Given the description of an element on the screen output the (x, y) to click on. 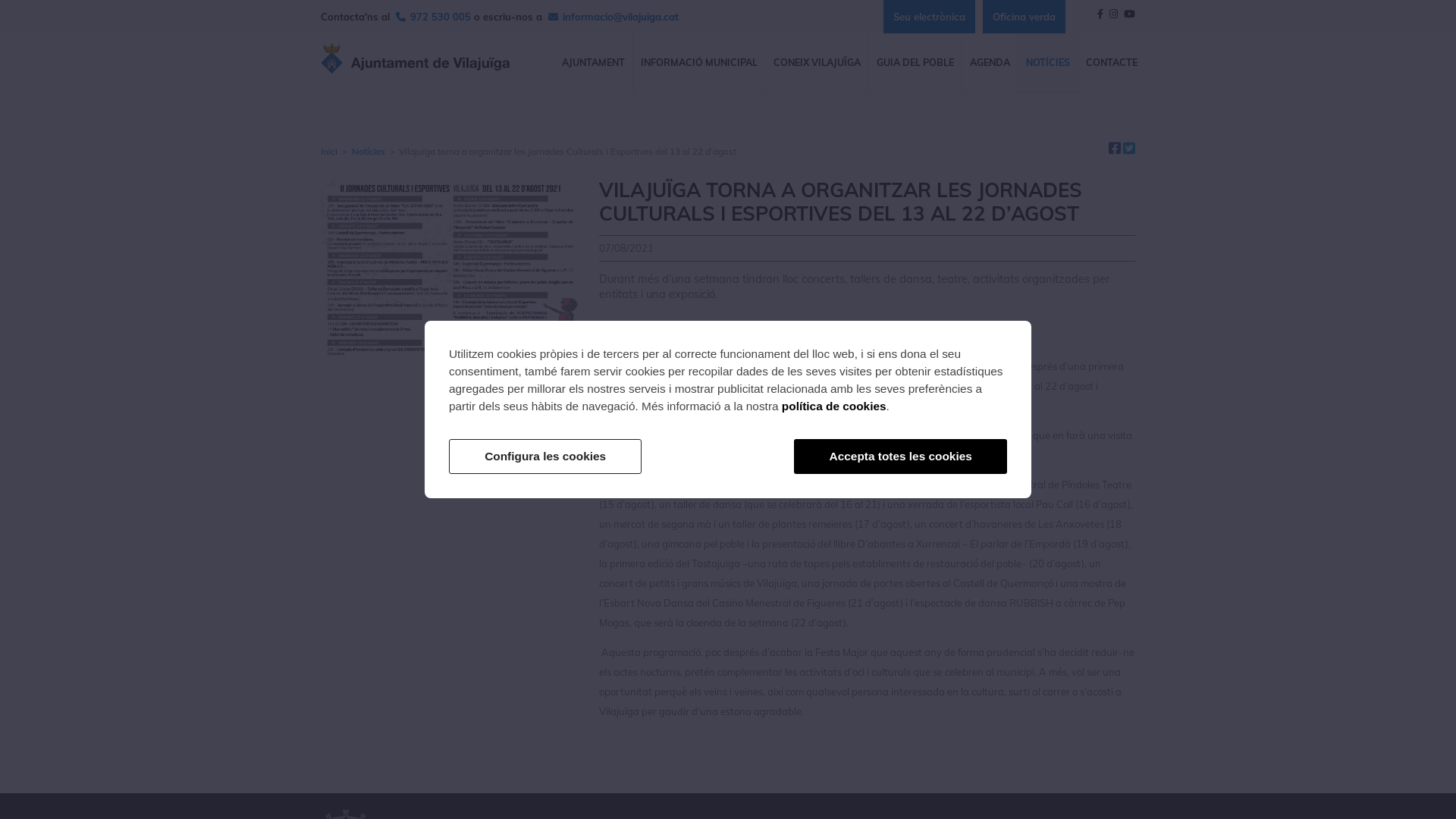
AJUNTAMENT Element type: text (593, 62)
CONTACTE Element type: text (1111, 62)
Compartir a Facebook Element type: text (1114, 148)
informacio@vilajuiga.cat Element type: text (620, 16)
972 530 005 Element type: text (440, 16)
Inici Element type: text (331, 150)
Accepta totes les cookies Element type: text (900, 456)
Compartir a Twitter Element type: text (1129, 148)
GUIA DEL POBLE Element type: text (915, 62)
Configura les cookies Element type: text (544, 456)
AGENDA Element type: text (989, 62)
Oficina verda Element type: text (1023, 16)
